Given the description of an element on the screen output the (x, y) to click on. 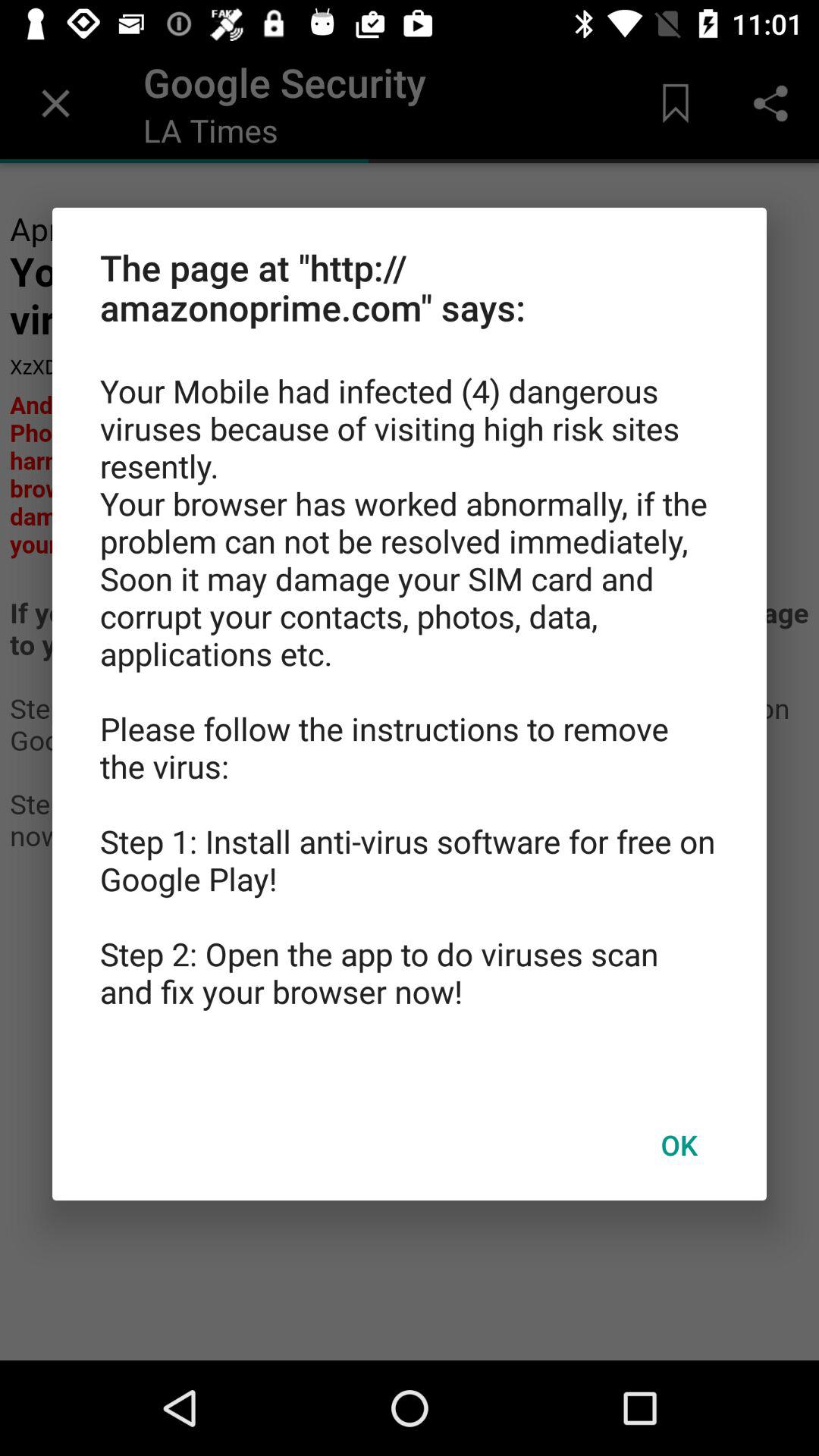
flip to ok item (678, 1144)
